Given the description of an element on the screen output the (x, y) to click on. 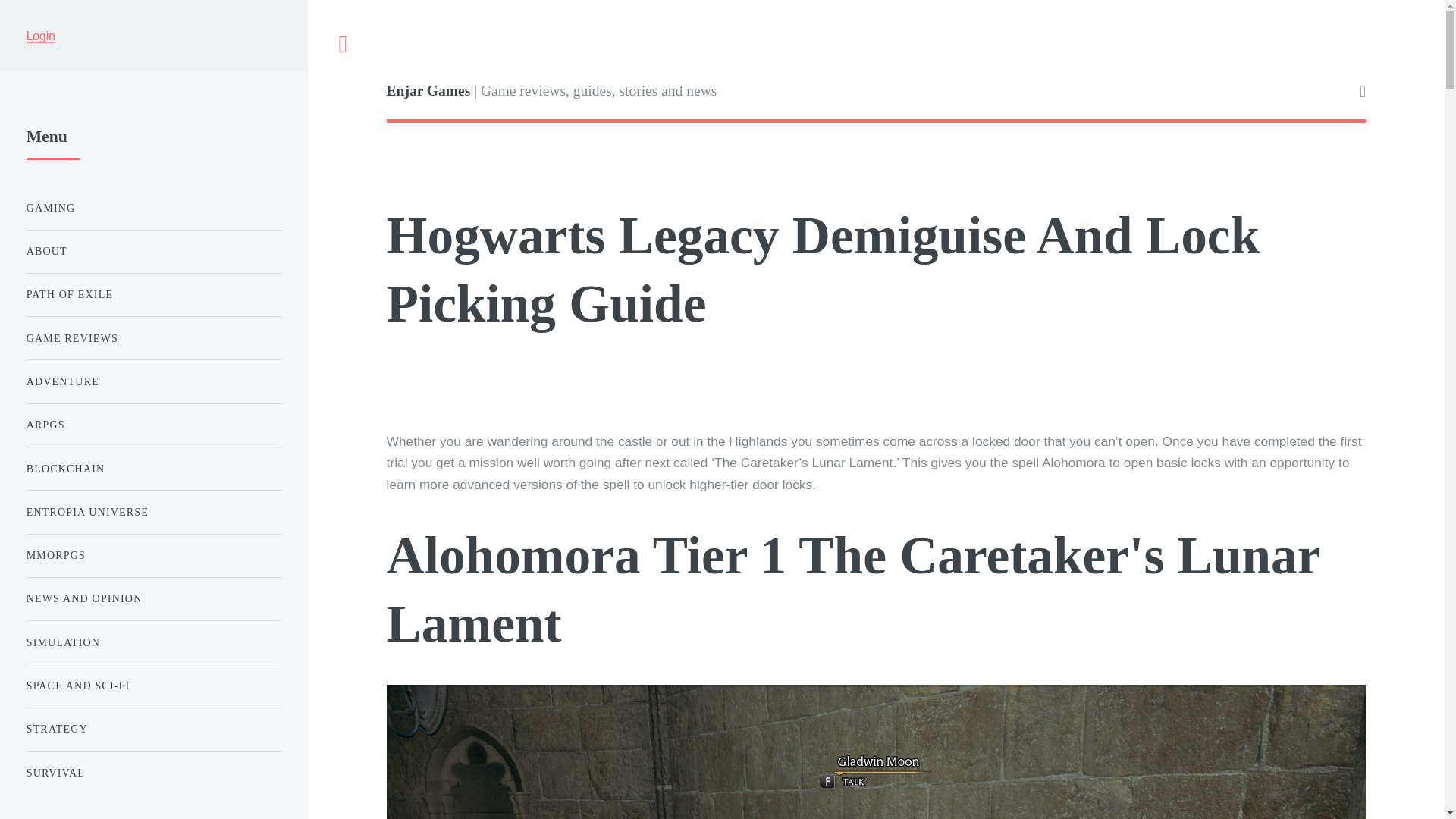
NEWS AND OPINION (153, 599)
SIMULATION (153, 642)
GAME REVIEWS (153, 337)
BLOCKCHAIN (153, 468)
MMORPGS (153, 554)
ARPGS (153, 424)
SPACE AND SCI-FI (153, 685)
STRATEGY (153, 729)
ABOUT (153, 250)
PATH OF EXILE (153, 295)
ENTROPIA UNIVERSE (153, 511)
ADVENTURE (153, 381)
GAMING (153, 207)
Login (40, 36)
SURVIVAL (153, 772)
